Given the description of an element on the screen output the (x, y) to click on. 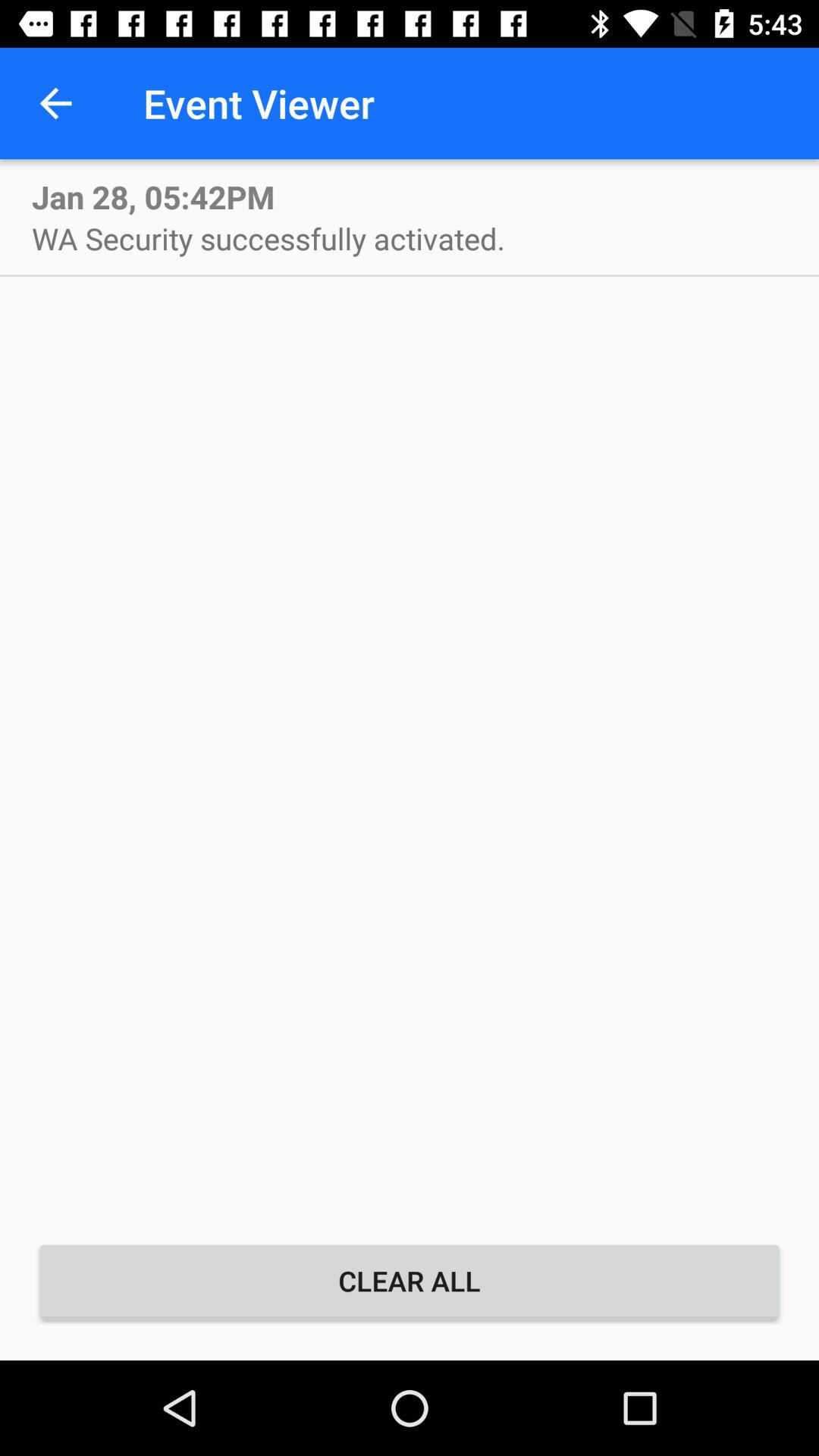
select the clear all item (409, 1280)
